Given the description of an element on the screen output the (x, y) to click on. 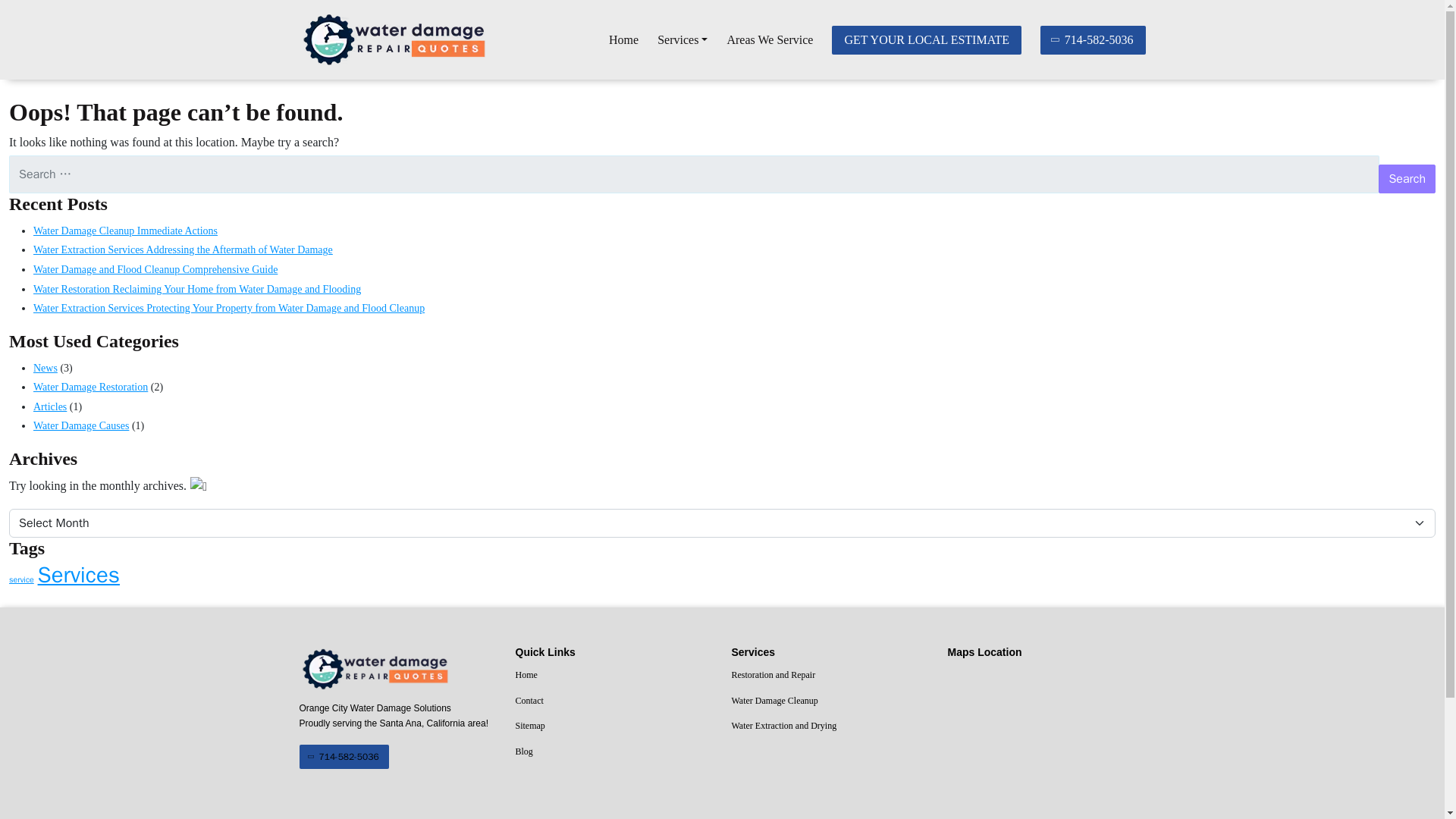
Blog (614, 752)
Home (623, 40)
Sitemap (614, 726)
Water Damage Cleanup Immediate Actions (124, 230)
Home (623, 40)
Areas We Service (769, 40)
Articles (49, 406)
Areas We Service (769, 40)
Contact (614, 701)
